Given the description of an element on the screen output the (x, y) to click on. 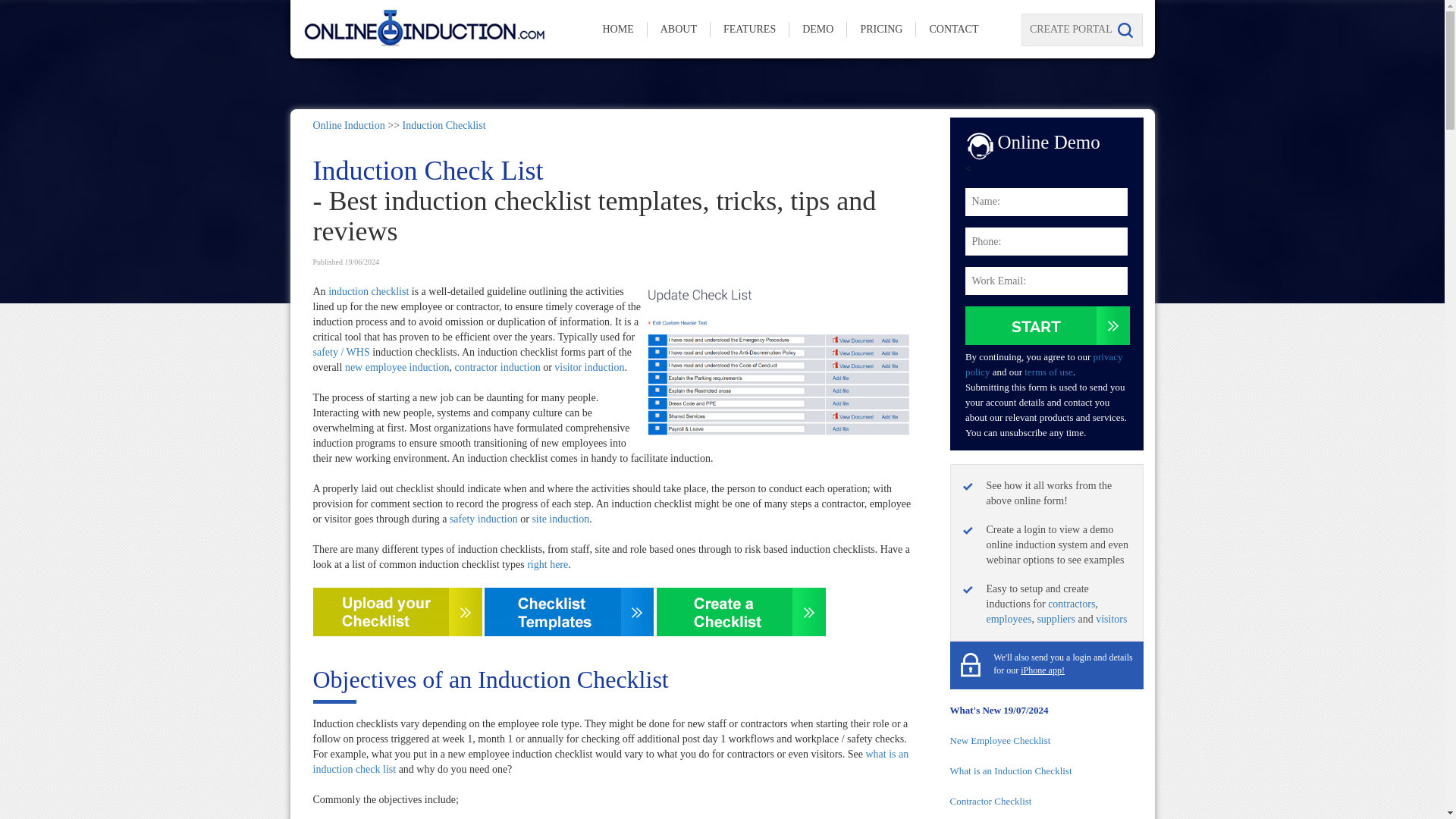
site induction (560, 518)
safety induction (483, 518)
induction checklist (369, 291)
privacy policy (1043, 364)
ABOUT (679, 29)
terms of use (1049, 371)
HOME (617, 29)
Induction Checklist (444, 125)
employees (1007, 618)
contractors (1071, 603)
DEMO (817, 29)
visitor induction (589, 367)
new employee induction (397, 367)
CONTACT (953, 29)
what is an induction check list (610, 761)
